Given the description of an element on the screen output the (x, y) to click on. 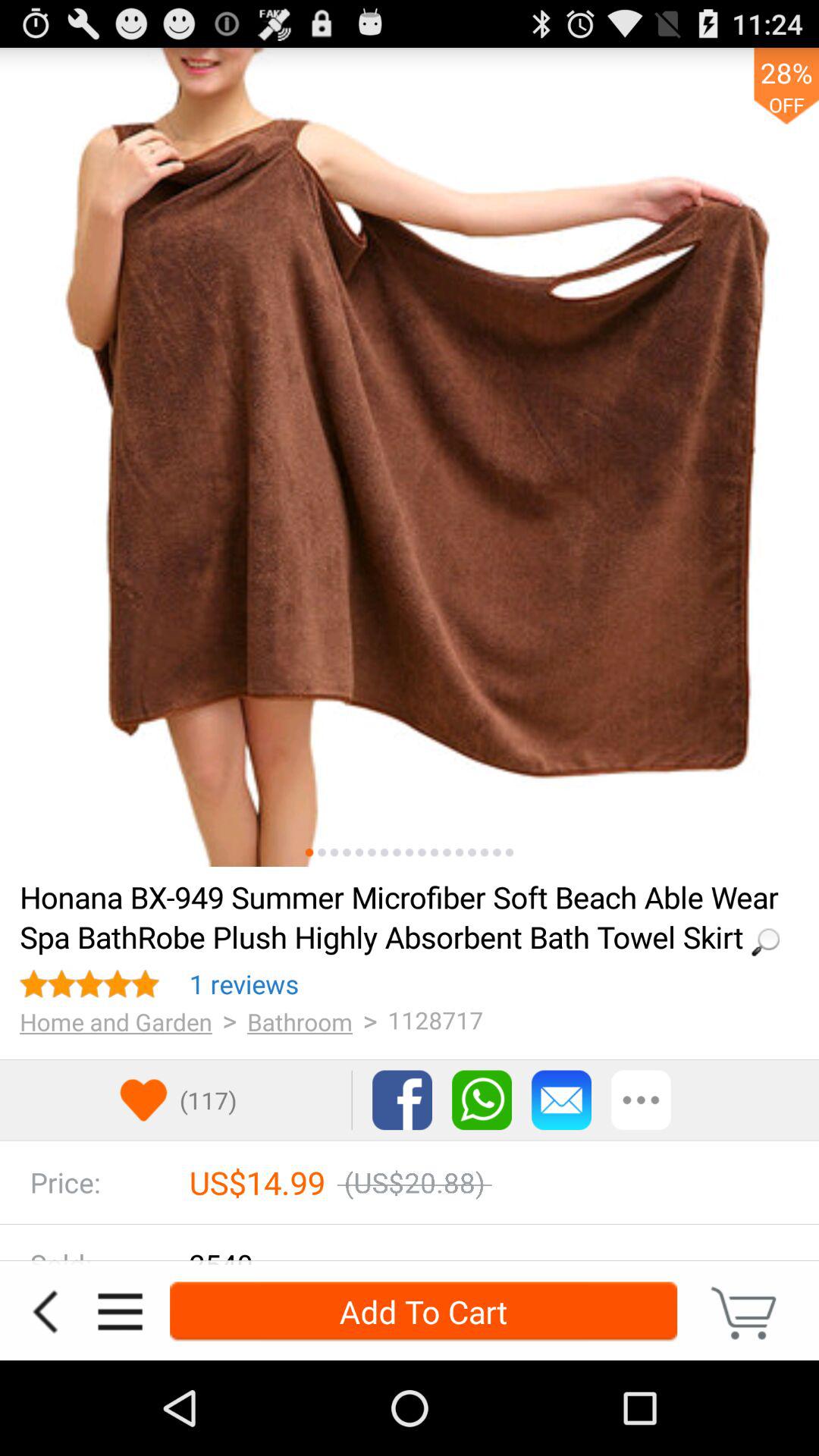
go to the third photo (334, 852)
